Given the description of an element on the screen output the (x, y) to click on. 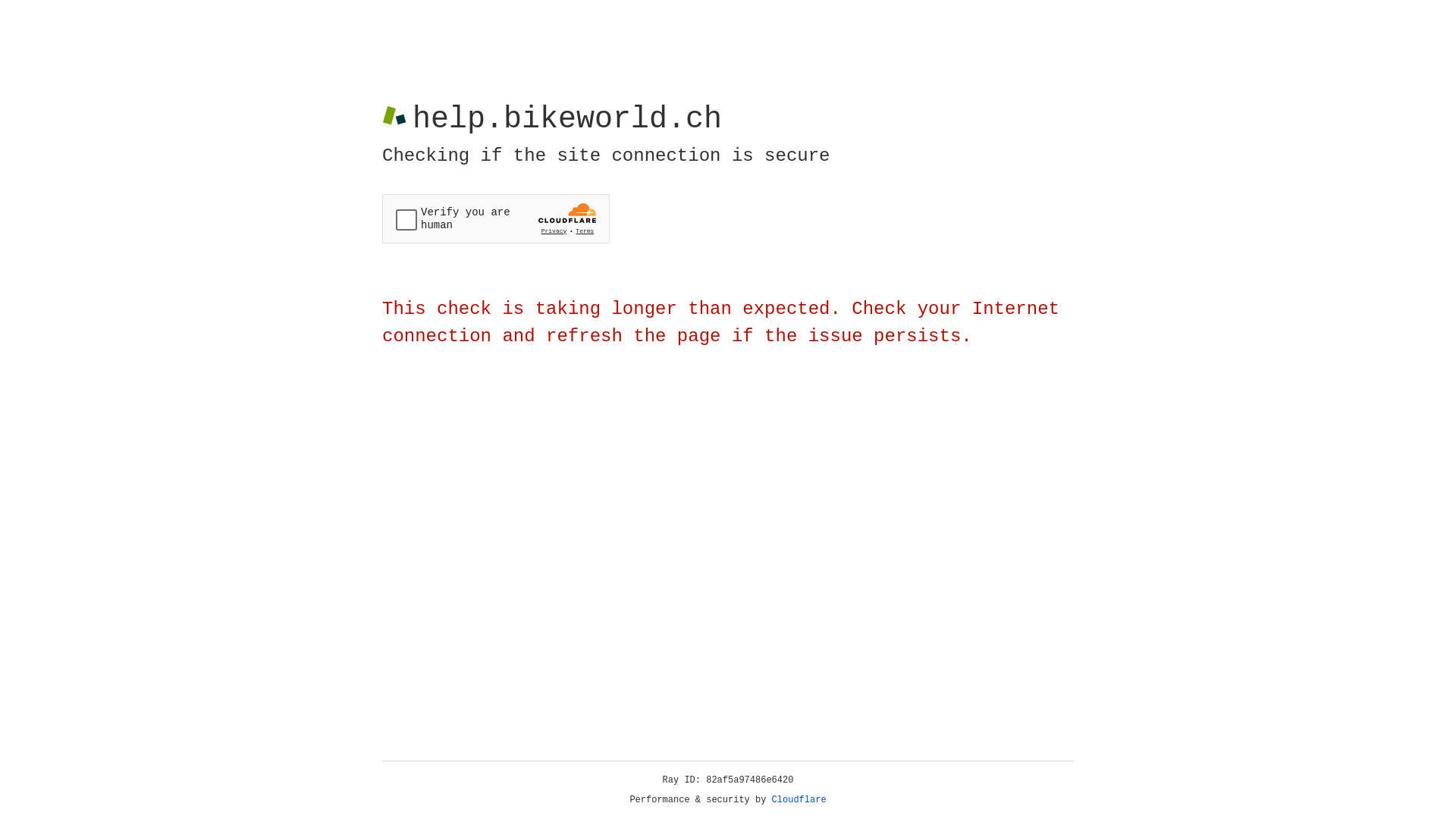
Cloudflare Element type: text (798, 799)
Widget containing a Cloudflare security challenge Element type: hover (495, 218)
